Given the description of an element on the screen output the (x, y) to click on. 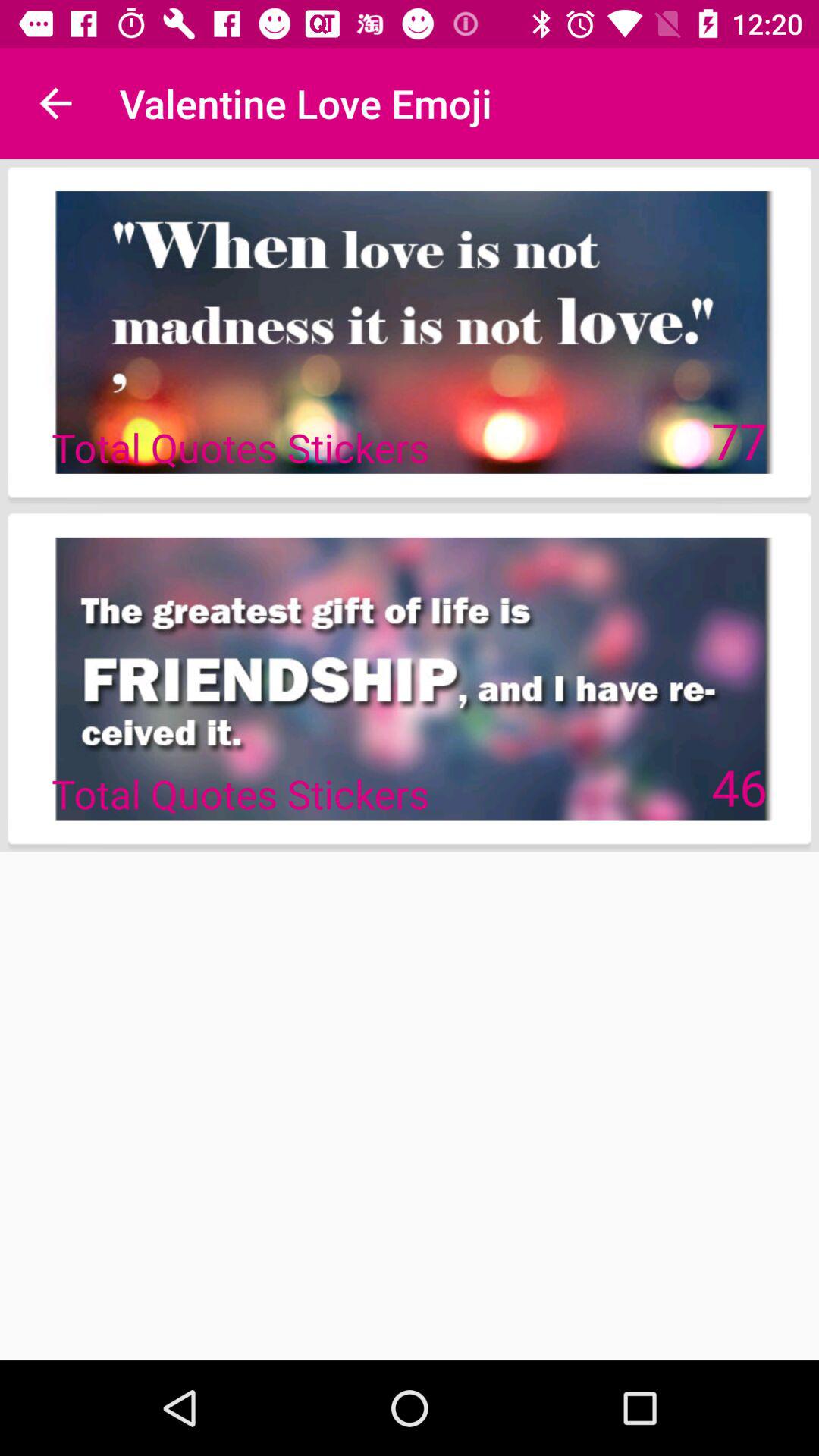
tap 46 icon (739, 786)
